Given the description of an element on the screen output the (x, y) to click on. 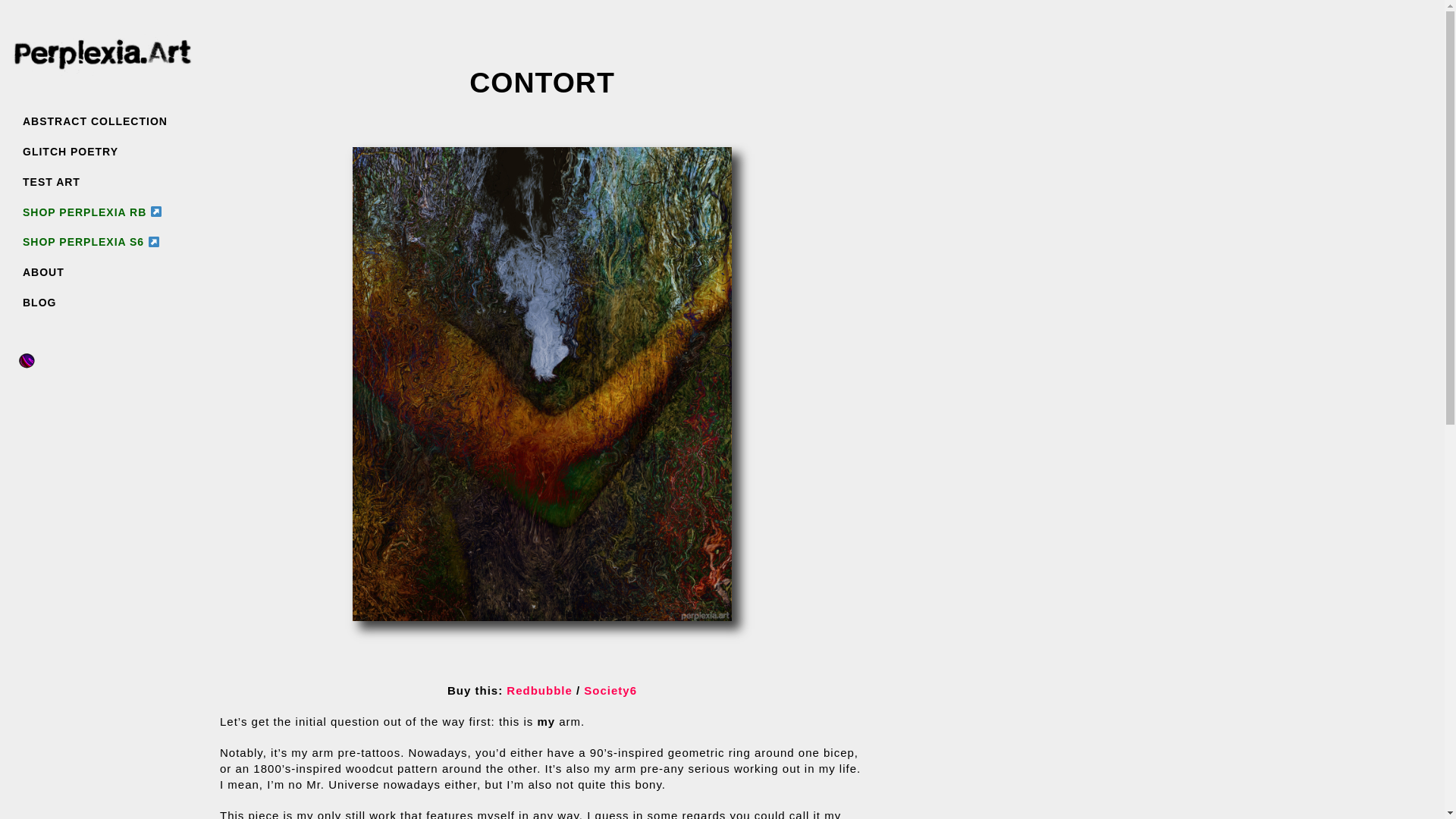
SHOP PERPLEXIA RB (102, 212)
Redbubble (539, 689)
ABOUT (102, 272)
Society6 (610, 689)
TEST ART (102, 181)
BLOG (102, 302)
ABSTRACT COLLECTION (102, 121)
GLITCH POETRY (102, 151)
SHOP PERPLEXIA S6 (102, 241)
